Given the description of an element on the screen output the (x, y) to click on. 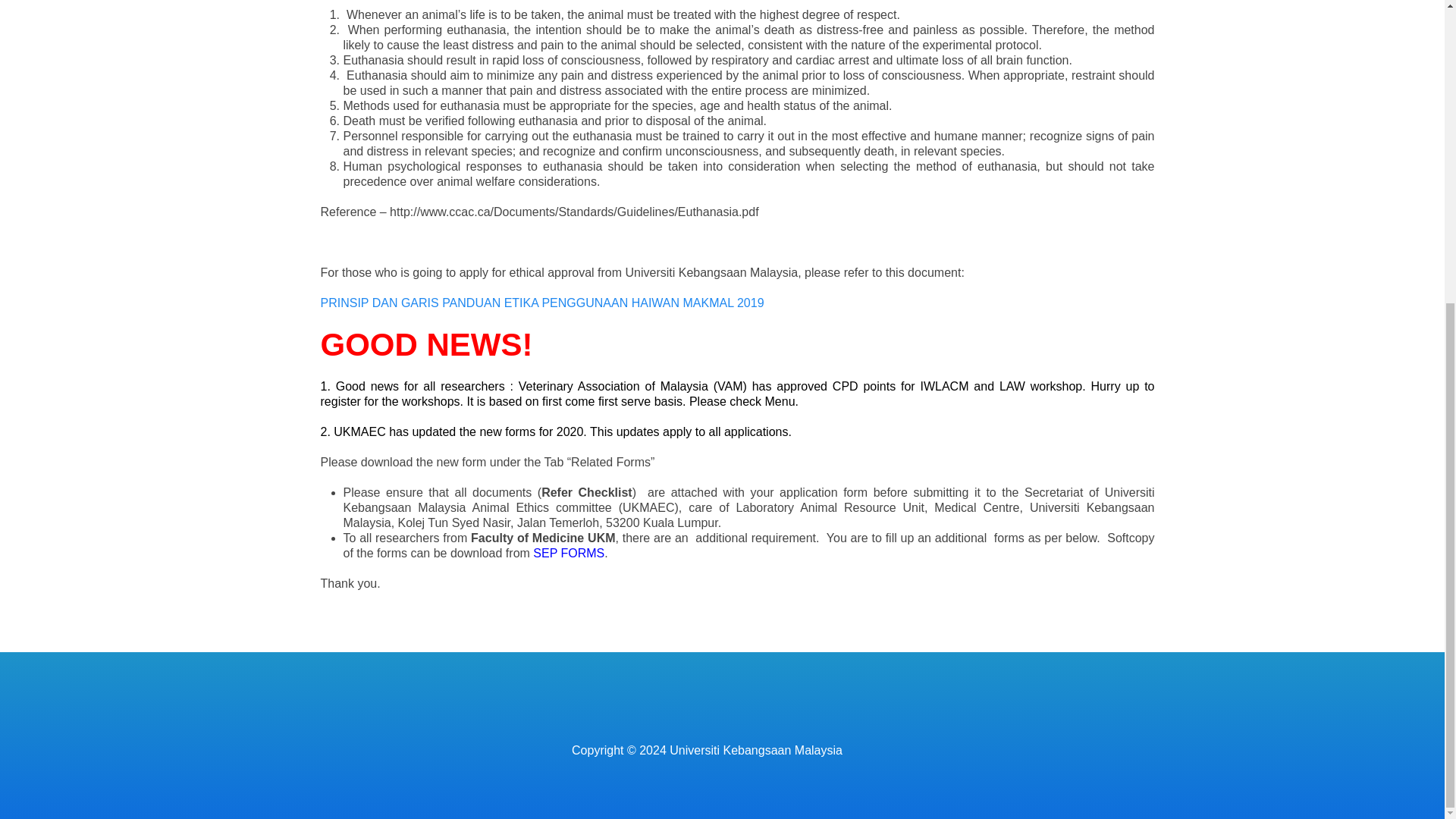
SEP FORMS (568, 553)
